Given the description of an element on the screen output the (x, y) to click on. 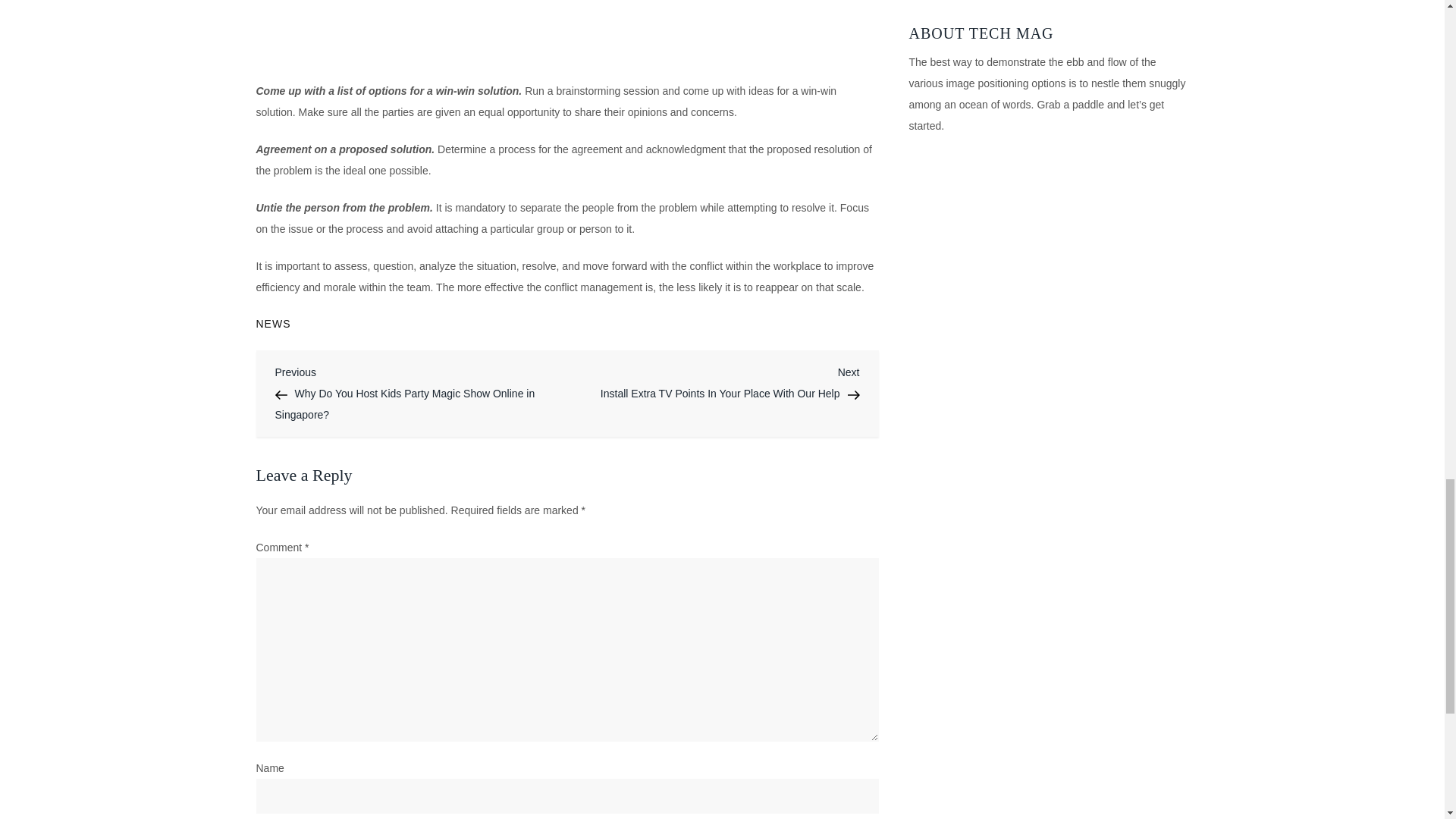
NEWS (273, 323)
